Given the description of an element on the screen output the (x, y) to click on. 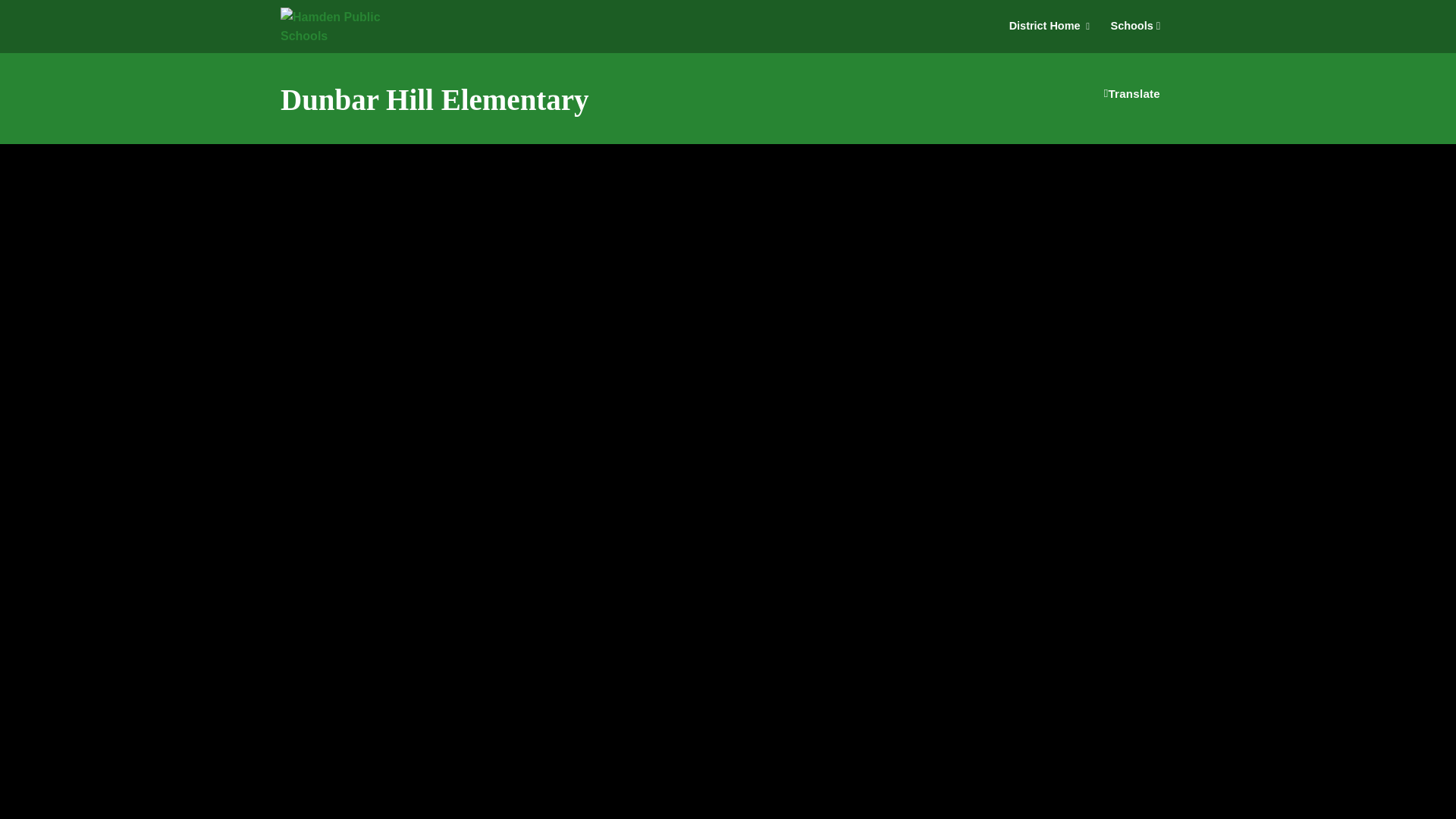
District Home (1052, 25)
Schools (1135, 25)
